Given the description of an element on the screen output the (x, y) to click on. 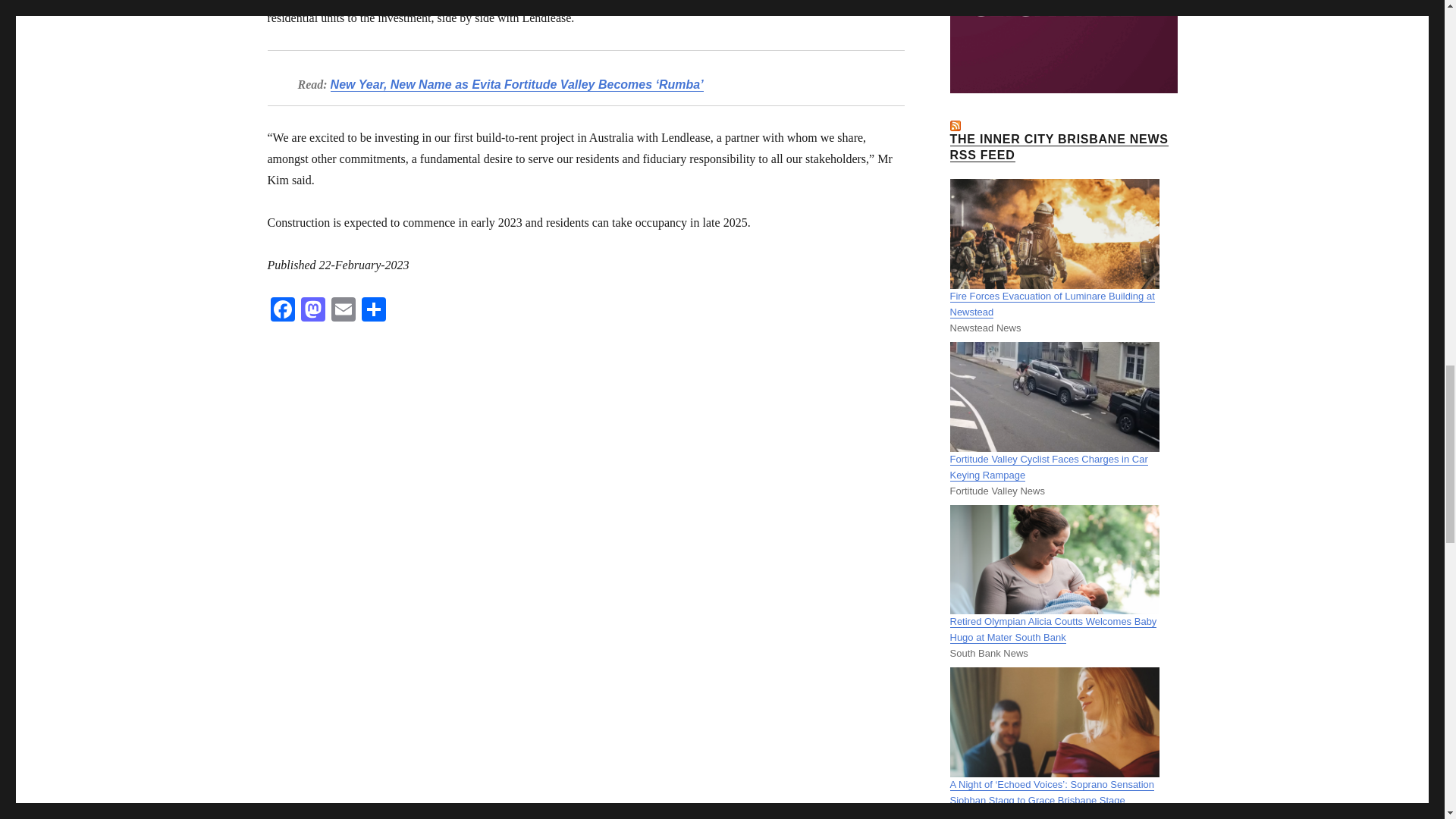
Email (342, 311)
Fortitude Valley Cyclist Faces Charges in Car Keying Rampage (1048, 466)
Fire Forces Evacuation of Luminare Building at Newstead (1051, 303)
THE INNER CITY BRISBANE NEWS RSS FEED (1058, 146)
Facebook (281, 311)
Email (342, 311)
Mastodon (312, 311)
Mastodon (312, 311)
Facebook (281, 311)
